Given the description of an element on the screen output the (x, y) to click on. 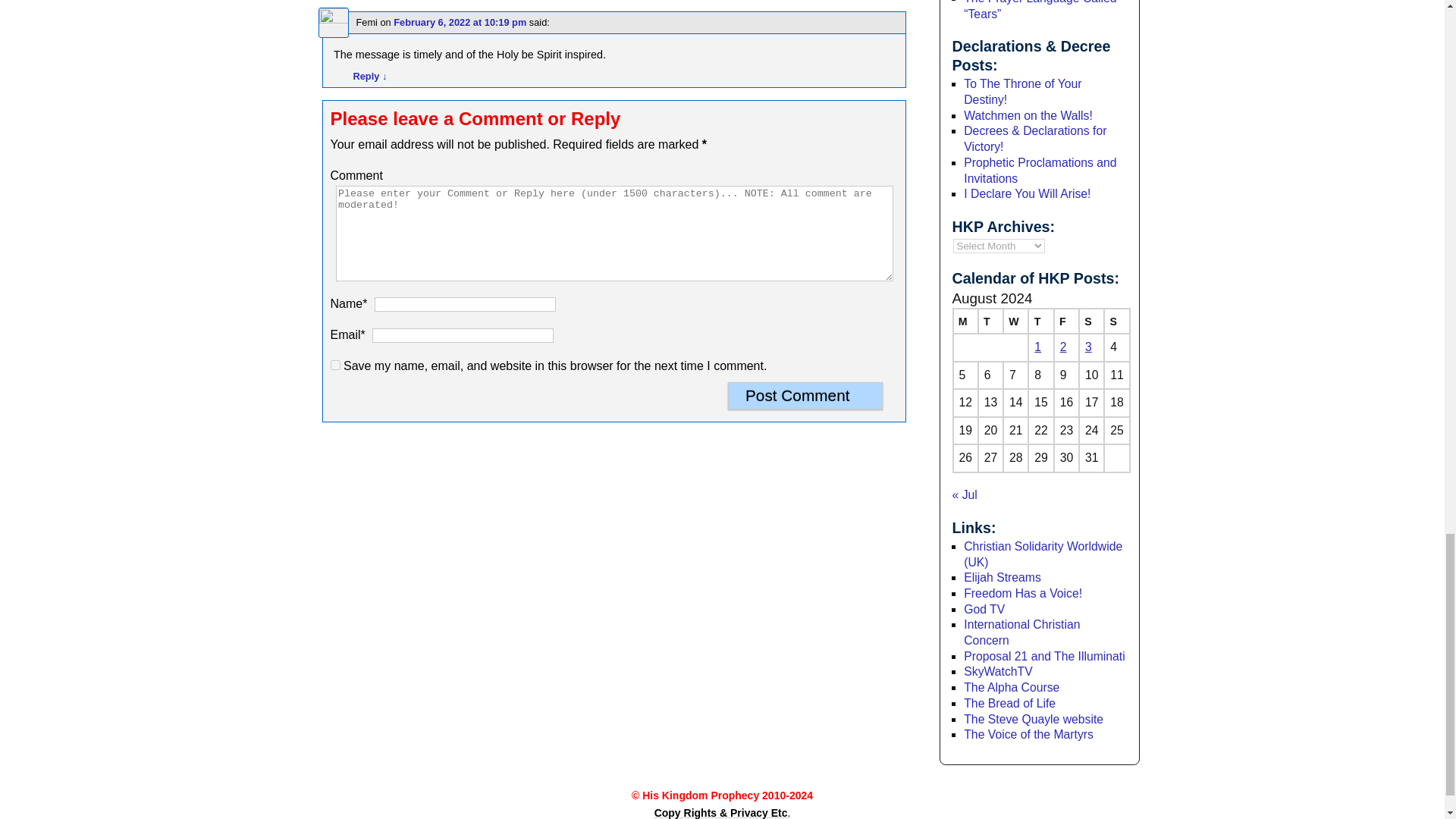
Thursday (1039, 320)
yes (335, 365)
Wednesday (1015, 320)
Monday (964, 320)
Friday (1066, 320)
Saturday (1090, 320)
Tuesday (990, 320)
Post Comment (805, 395)
Sunday (1116, 320)
